Given the description of an element on the screen output the (x, y) to click on. 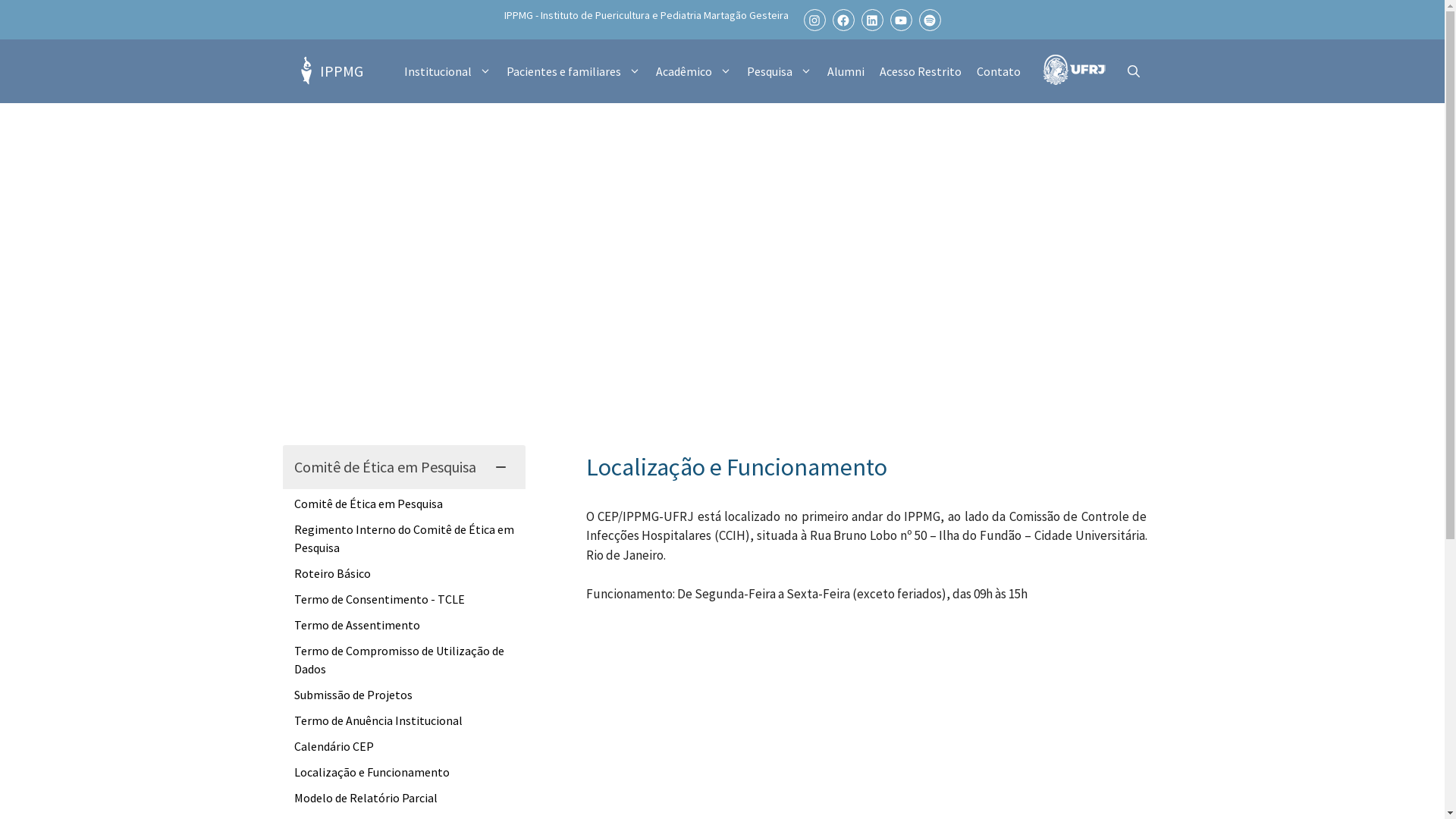
Institucional Element type: text (446, 71)
Acesso Restrito Element type: text (920, 71)
Alumni Element type: text (845, 71)
LinkedIn Element type: text (871, 19)
Instagram Element type: text (813, 19)
Contato Element type: text (998, 71)
Spotify Element type: text (929, 19)
Facebook Element type: text (842, 19)
YouTube Element type: text (900, 19)
Pacientes e familiares Element type: text (573, 71)
IPPMG Element type: hover (304, 71)
Pesquisa Element type: text (778, 71)
Termo de Assentimento Element type: text (357, 624)
Termo de Consentimento - TCLE Element type: text (379, 598)
IPPMG Element type: text (341, 71)
